Given the description of an element on the screen output the (x, y) to click on. 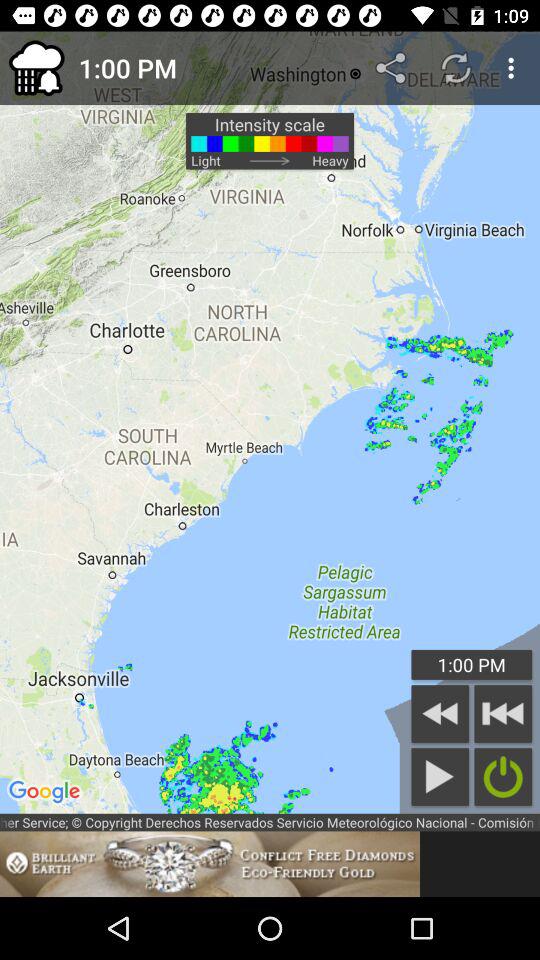
click to play option (440, 776)
